Given the description of an element on the screen output the (x, y) to click on. 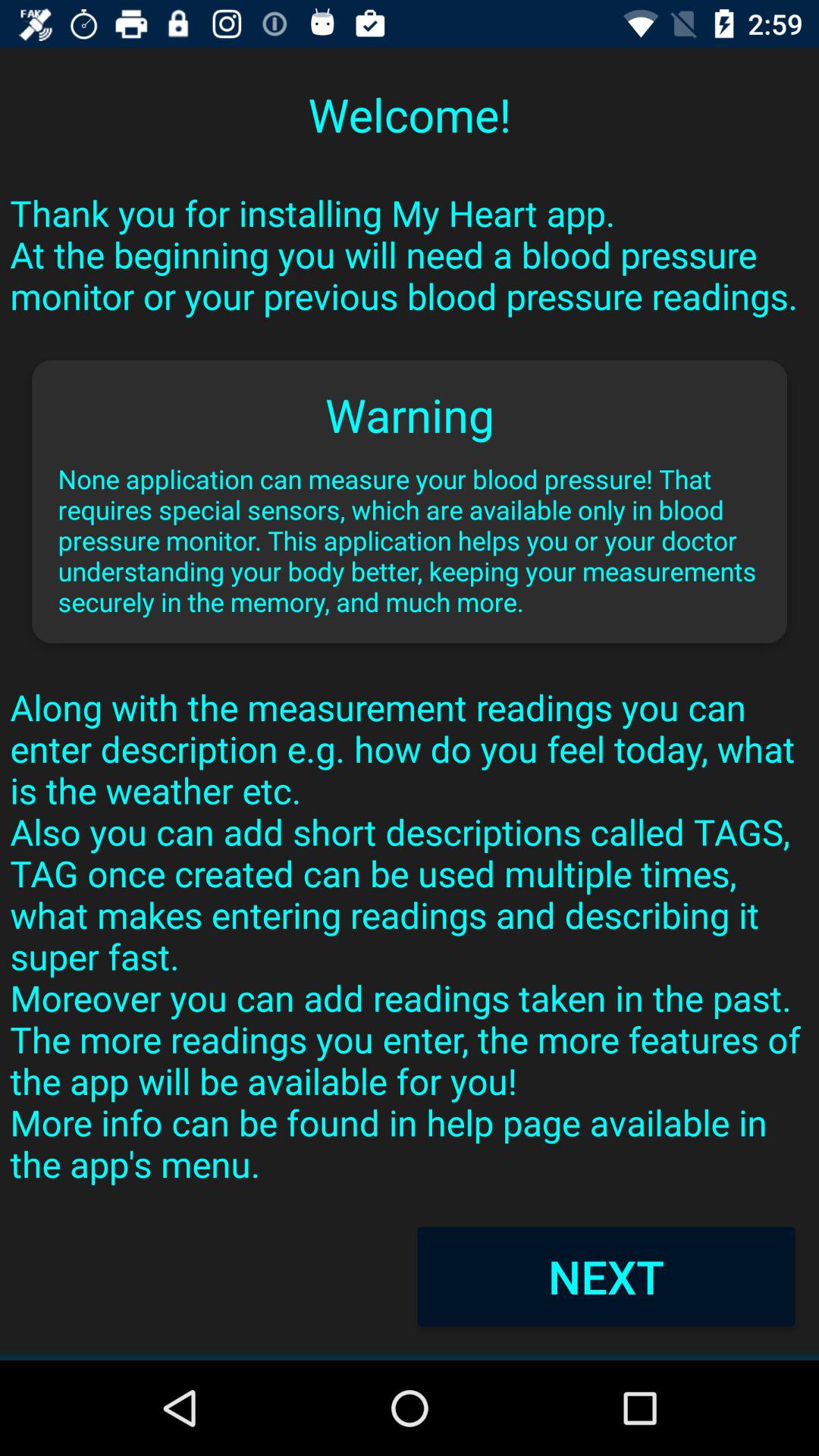
tap the item below along with the item (606, 1276)
